Given the description of an element on the screen output the (x, y) to click on. 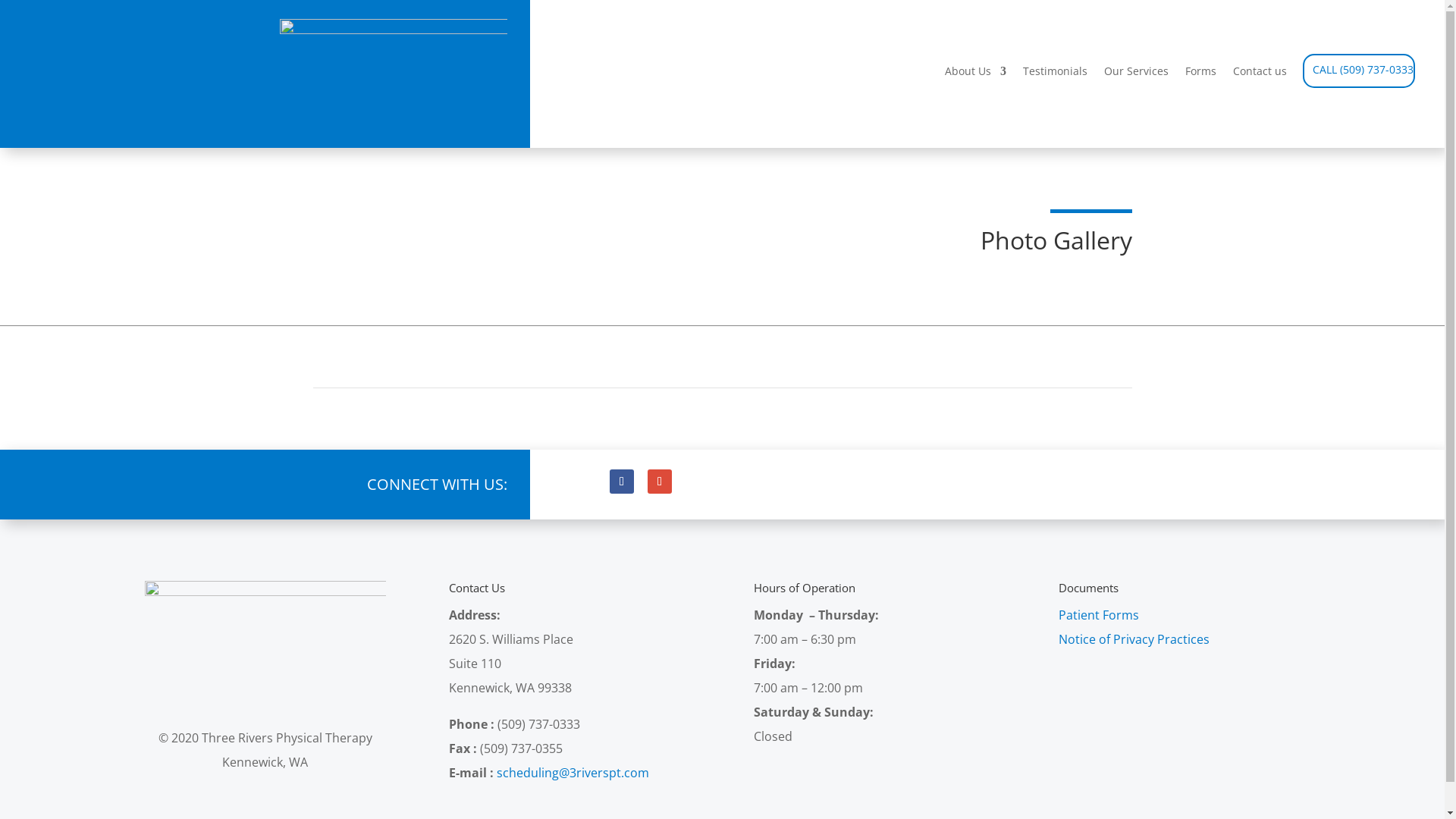
Forms Element type: text (1200, 76)
Notice of Privacy Practices Element type: text (1133, 638)
About Us Element type: text (975, 76)
3RiversPT-Logo Element type: hover (393, 71)
Follow on Google+ Element type: hover (659, 481)
scheduling@3riverspt.com Element type: text (572, 772)
footerasset Element type: hover (264, 636)
Contact us Element type: text (1259, 76)
Testimonials Element type: text (1054, 76)
Follow on Facebook Element type: hover (621, 481)
Our Services Element type: text (1136, 76)
CALL (509) 737-0333 Element type: text (1362, 72)
Patient Forms Element type: text (1098, 614)
